Given the description of an element on the screen output the (x, y) to click on. 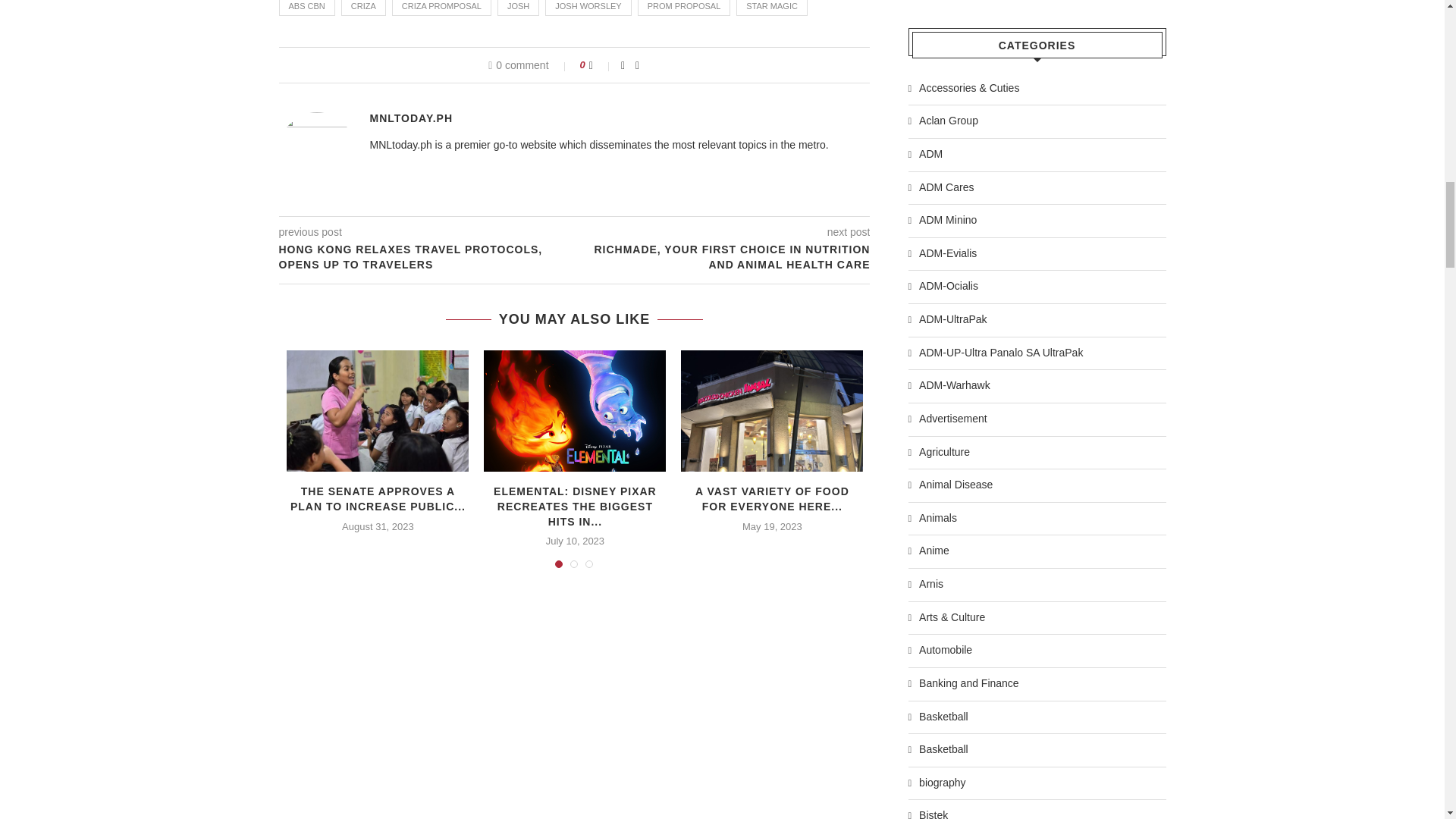
Like (600, 64)
A VAST VARIETY OF FOOD FOR EVERYONE HERE AT BACOLOD INASAL! (772, 410)
Posts by MNLtoday.ph (410, 118)
